Given the description of an element on the screen output the (x, y) to click on. 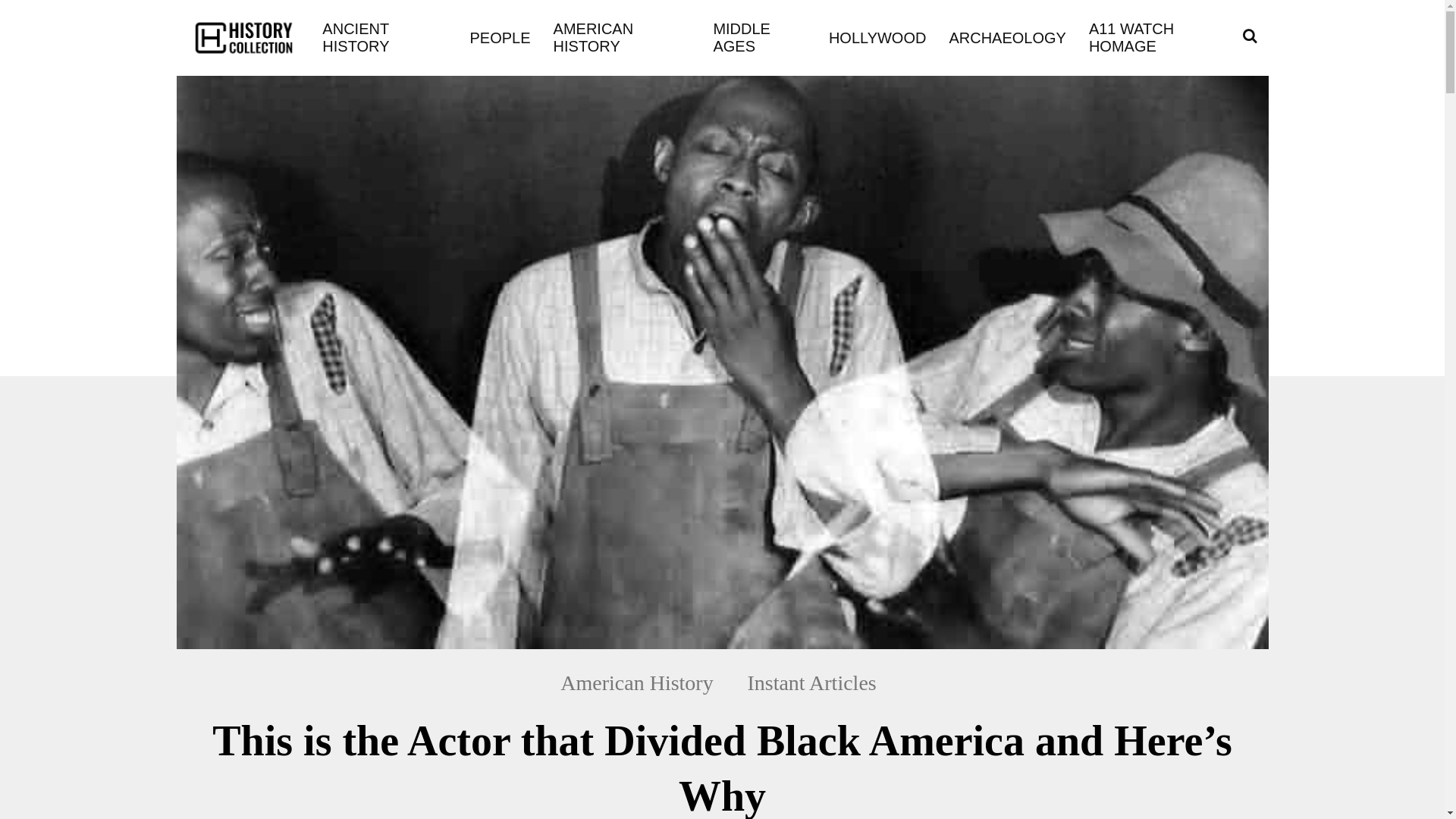
AMERICAN HISTORY (622, 37)
Instant Articles (811, 682)
ANCIENT HISTORY (384, 37)
HOLLYWOOD (877, 36)
American History (644, 682)
A11 WATCH HOMAGE (1160, 37)
PEOPLE (500, 36)
ARCHAEOLOGY (1006, 36)
MIDDLE AGES (758, 37)
